Given the description of an element on the screen output the (x, y) to click on. 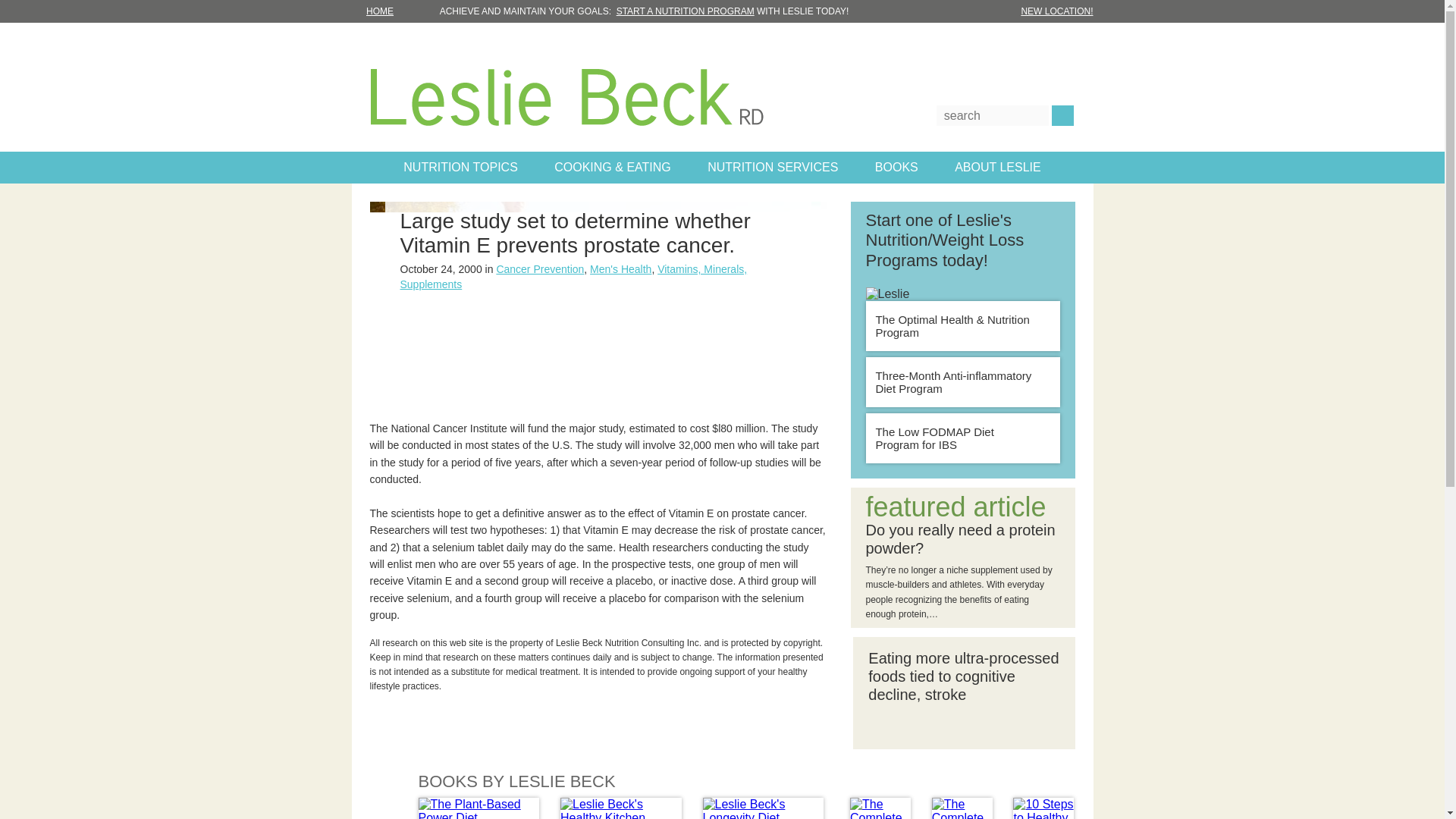
Twitter (933, 48)
Phone (1062, 48)
HOME (389, 10)
START A NUTRITION PROGRAM (684, 10)
Three-Month Anti-inflammatory Diet Program (962, 382)
Vitamins, Minerals, Supplements (574, 276)
NEW LOCATION! (1056, 10)
LinkedIn (959, 48)
Pinterest (1011, 48)
Skip to content (19, 19)
Cancer Prevention (539, 268)
Facebook (984, 48)
Email (1036, 48)
ABOUT LESLIE (997, 167)
NUTRITION SERVICES (772, 167)
